Given the description of an element on the screen output the (x, y) to click on. 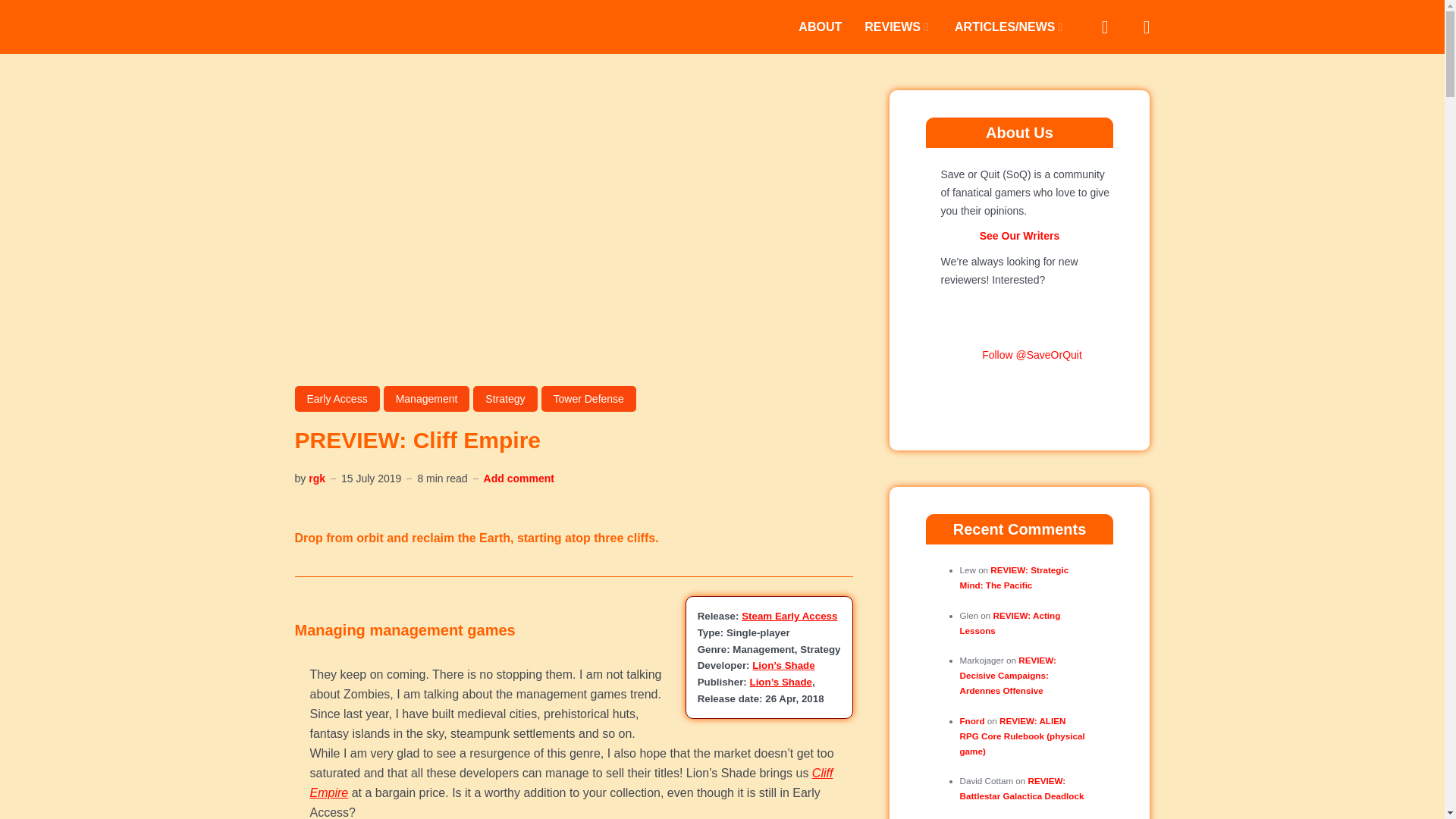
Join SoQ Steam Group (968, 354)
Join SoQ Discord (1019, 388)
Add comment (518, 478)
ABOUT (819, 26)
REVIEWS (897, 26)
